Given the description of an element on the screen output the (x, y) to click on. 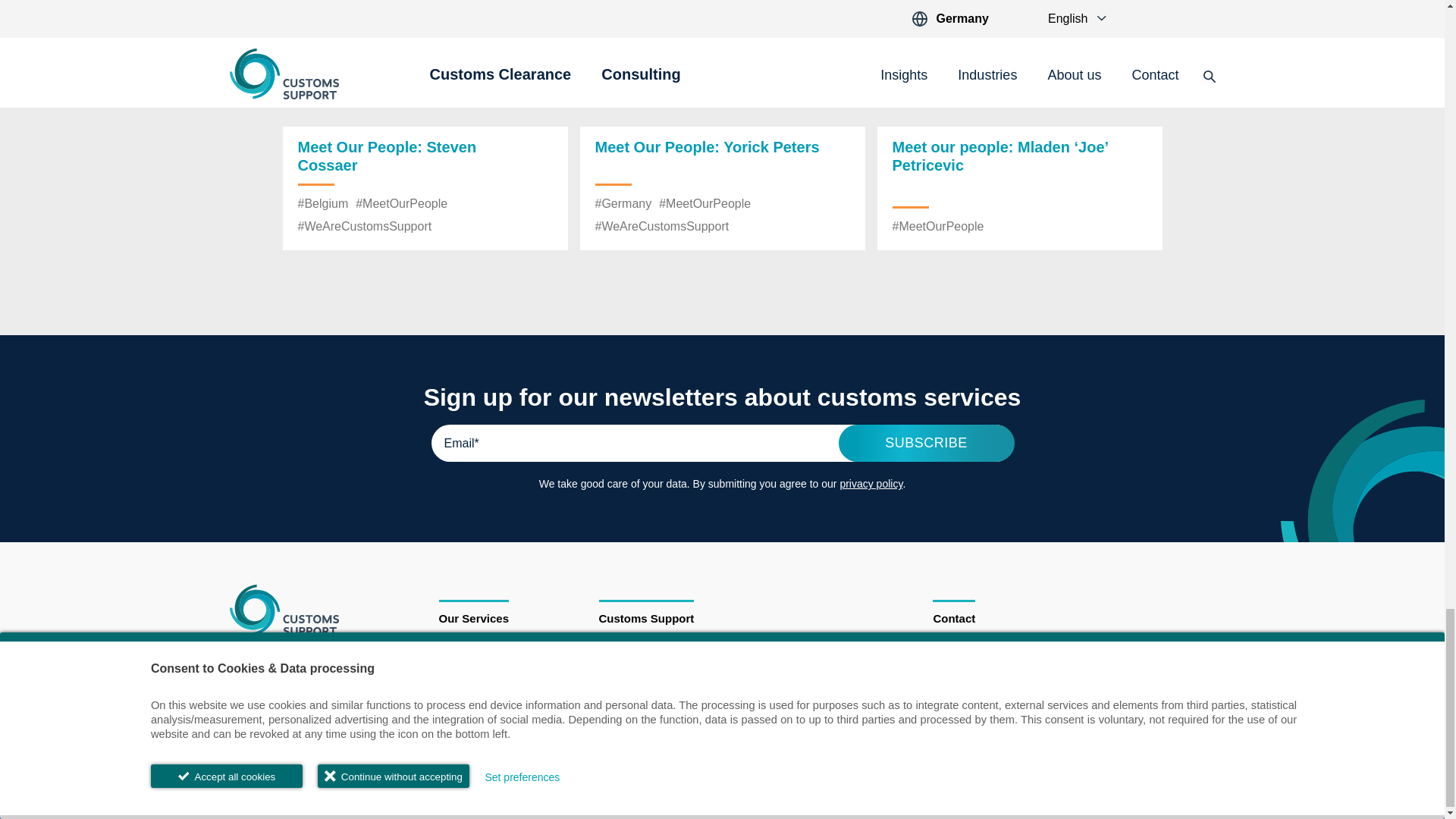
Subscribe (926, 443)
